Given the description of an element on the screen output the (x, y) to click on. 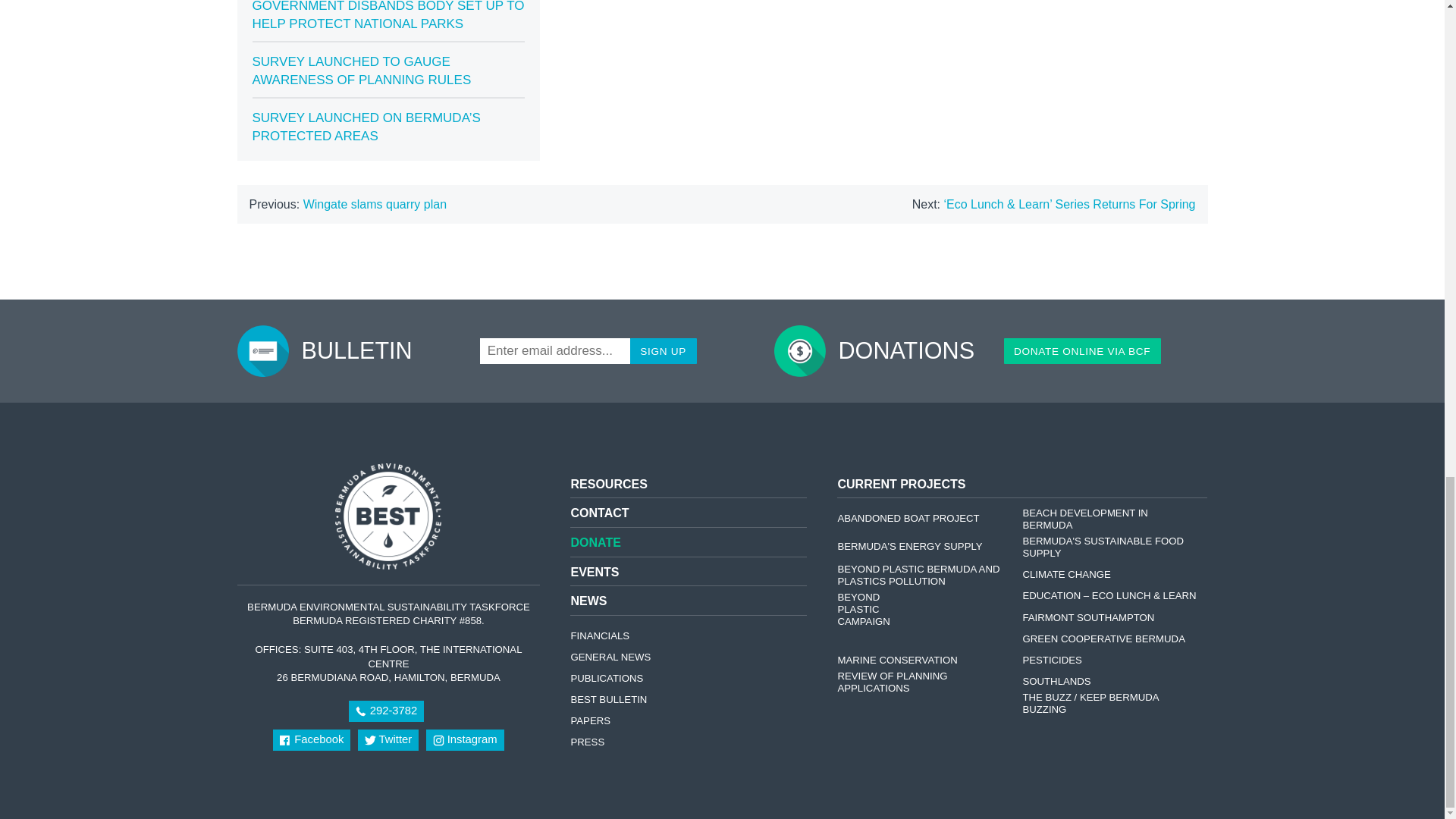
Wingate slams quarry plan (374, 204)
SIGN UP (663, 350)
EVENTS (594, 571)
Instagram (464, 740)
Facebook (311, 740)
RESOURCES (608, 483)
DONATE ONLINE VIA BCF (1082, 350)
Twitter (388, 740)
NEWS (588, 600)
292-3782 (387, 711)
GENERAL NEWS (615, 657)
FINANCIALS (604, 635)
CONTACT (599, 512)
DONATE (595, 542)
